Given the description of an element on the screen output the (x, y) to click on. 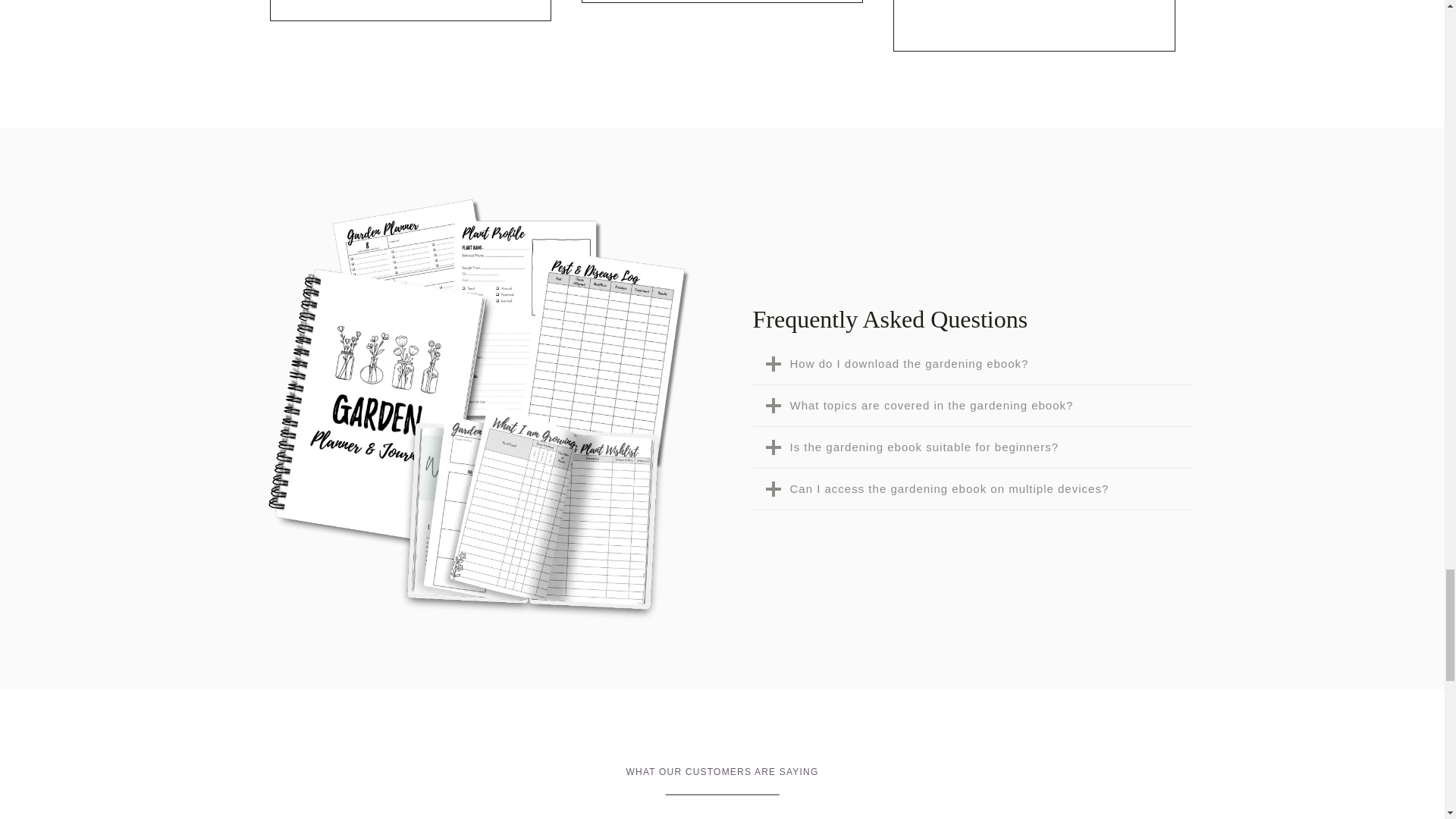
How do I download the gardening ebook? (972, 363)
Is the gardening ebook suitable for beginners? (972, 447)
Can I access the gardening ebook on multiple devices? (972, 489)
What topics are covered in the gardening ebook? (972, 405)
